Given the description of an element on the screen output the (x, y) to click on. 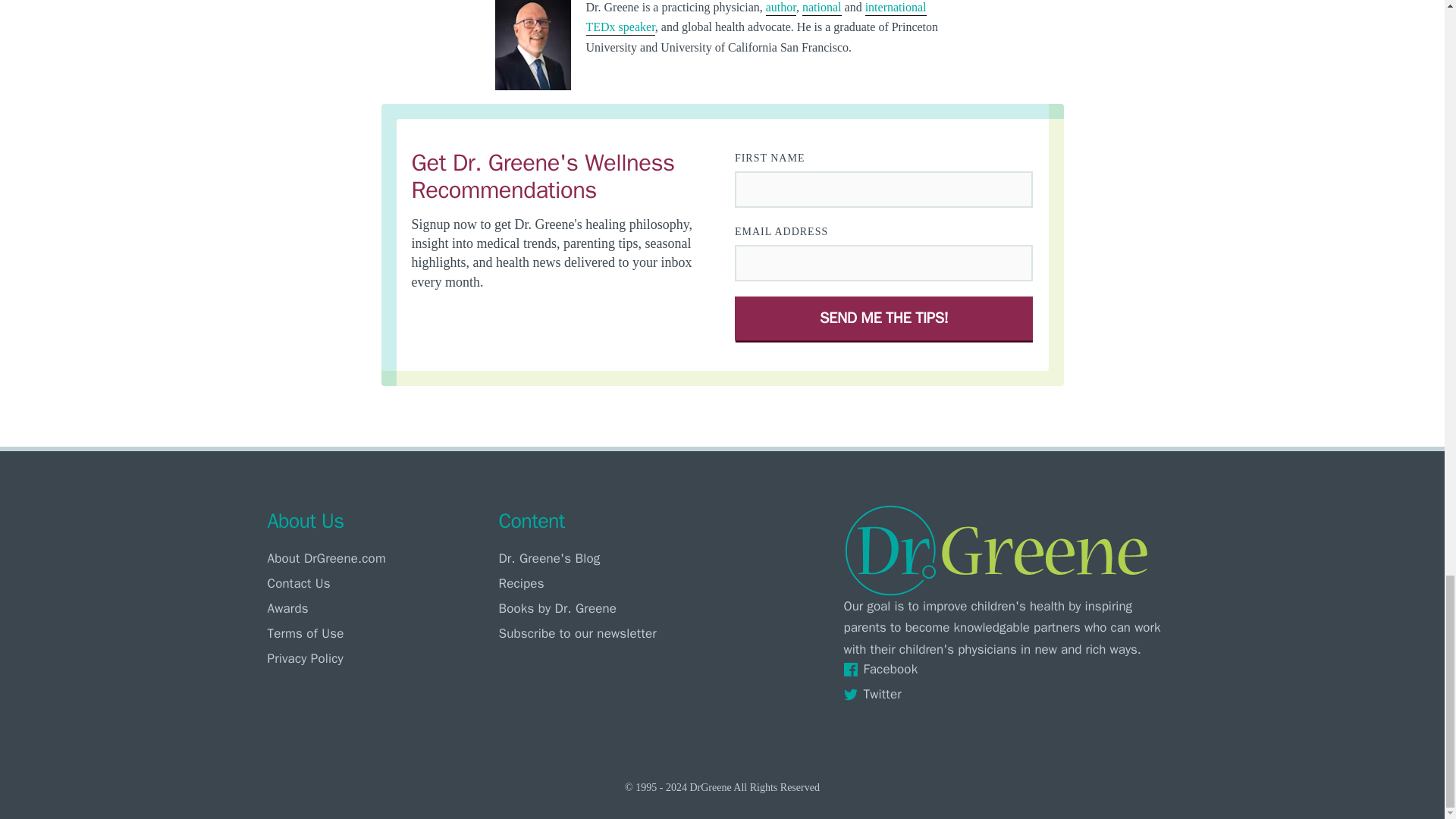
About DrGreene.com (378, 557)
Subscribe to our newsletter (610, 633)
author (780, 7)
Contact Us (378, 583)
Twitter (1009, 693)
Recipes (610, 583)
Privacy Policy (378, 658)
international TEDx speaker (755, 18)
Dr. Greene's Blog (610, 557)
Terms of Use (378, 633)
SEND ME THE TIPS! (884, 317)
Books by Dr. Greene (610, 608)
Facebook (1009, 669)
national (821, 7)
